Given the description of an element on the screen output the (x, y) to click on. 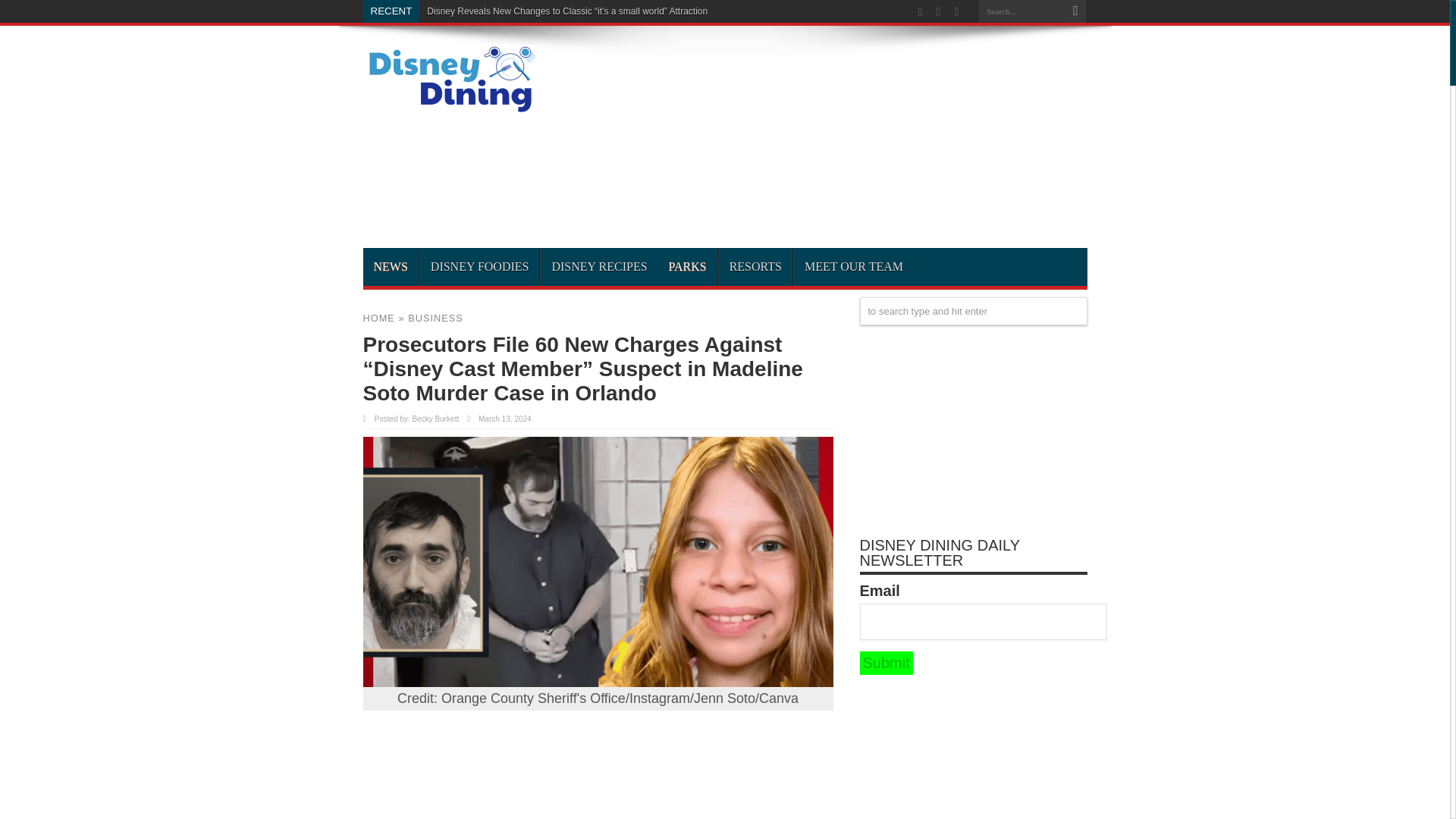
BUSINESS (435, 317)
Becky Burkett (436, 418)
NEWS (389, 266)
HOME (378, 317)
to search type and hit enter (973, 311)
Search (1075, 11)
RESORTS (754, 266)
DISNEY FOODIES (479, 266)
MEET OUR TEAM (853, 266)
Search... (1020, 11)
